Given the description of an element on the screen output the (x, y) to click on. 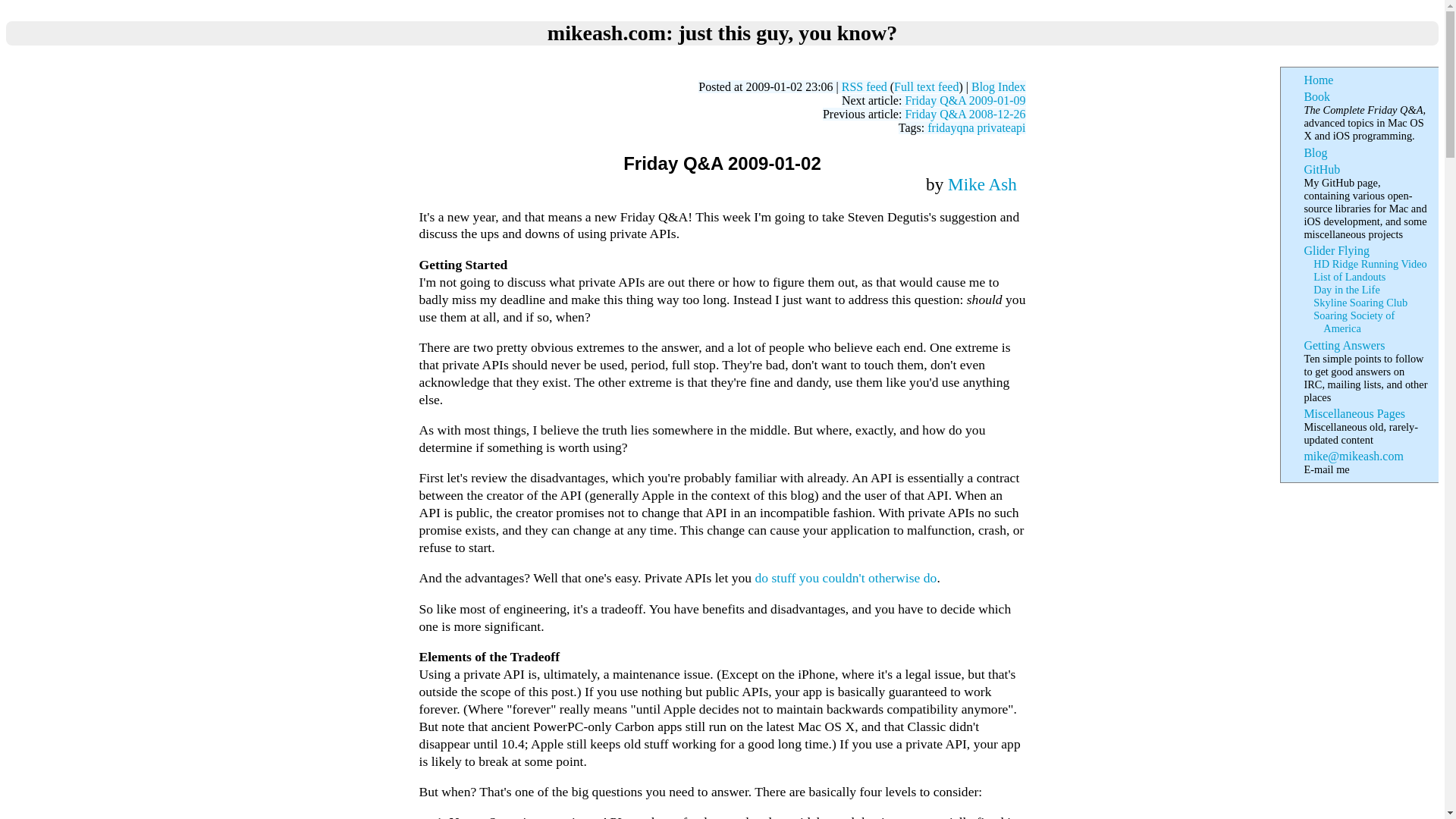
GitHub (1321, 169)
otherwise (893, 577)
Blog (1314, 152)
couldn't (843, 577)
HD Ridge Running Video (1369, 263)
Skyline Soaring Club (1360, 302)
Full text feed (925, 86)
Blog Index (998, 86)
do (930, 577)
stuff (782, 577)
